Given the description of an element on the screen output the (x, y) to click on. 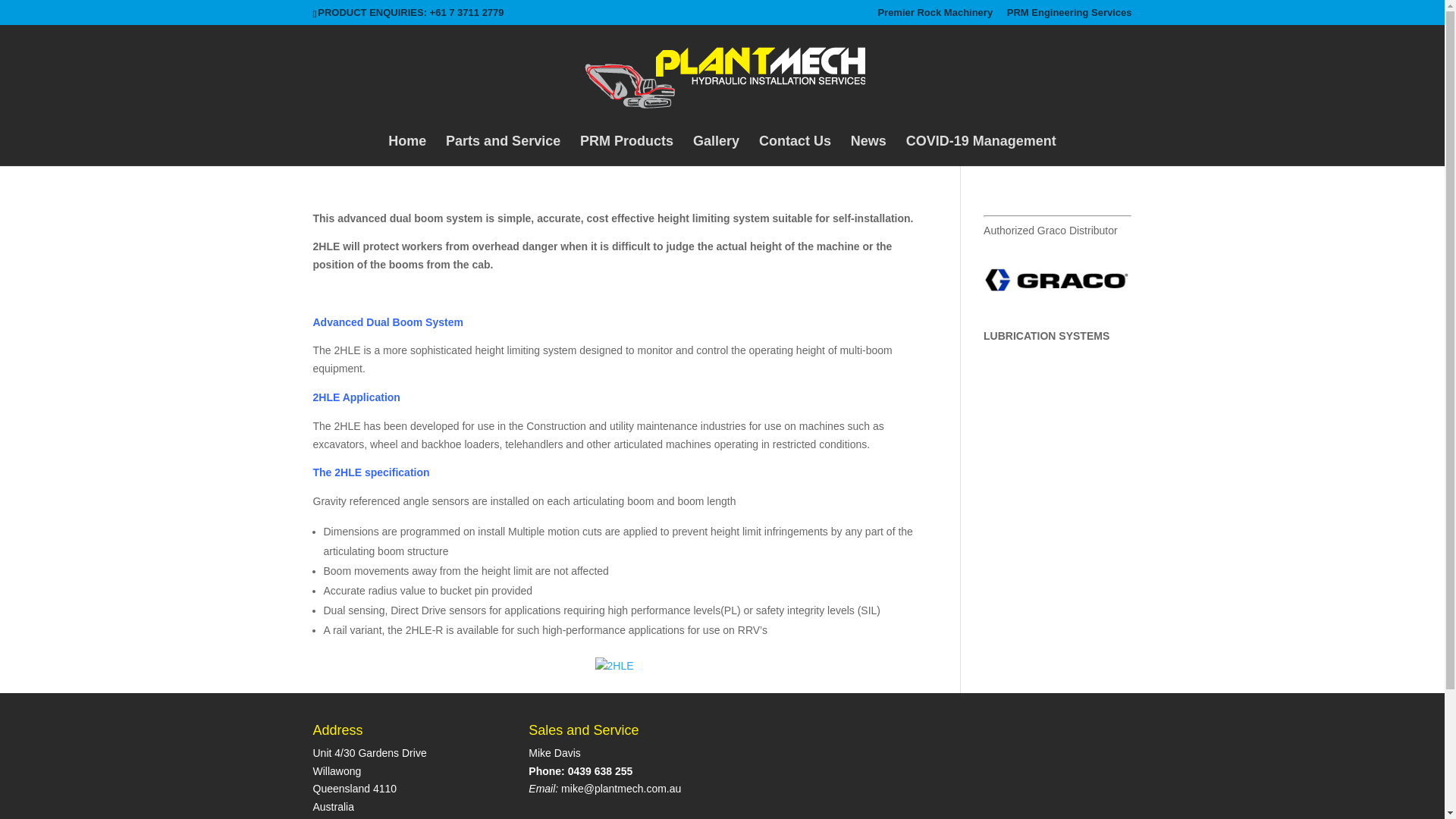
Premier Rock Machinery (934, 16)
Contact Us (794, 150)
COVID-19 Management (981, 150)
PRM Products (625, 150)
Gallery (716, 150)
Home (407, 150)
News (868, 150)
Parts and Service (502, 150)
PRM Engineering Services (1069, 16)
